Given the description of an element on the screen output the (x, y) to click on. 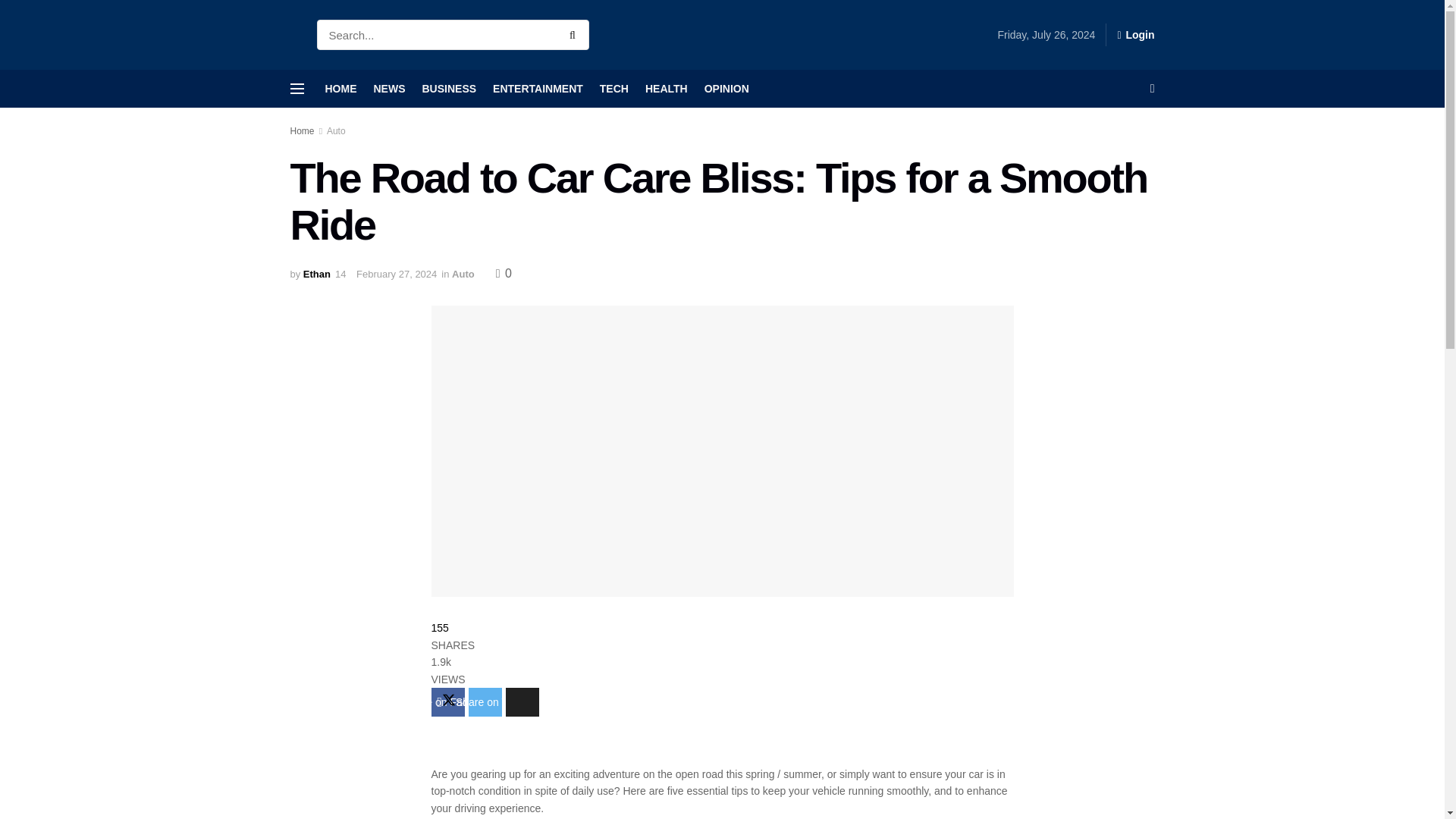
HOME (340, 88)
TECH (613, 88)
Auto (336, 131)
OPINION (726, 88)
Ethan (316, 274)
0 (504, 273)
Share on Facebook (447, 701)
ENTERTAINMENT (538, 88)
NEWS (388, 88)
Home (301, 131)
Login (1135, 34)
February 27, 2024 (396, 274)
HEALTH (666, 88)
Auto (462, 274)
BUSINESS (449, 88)
